Given the description of an element on the screen output the (x, y) to click on. 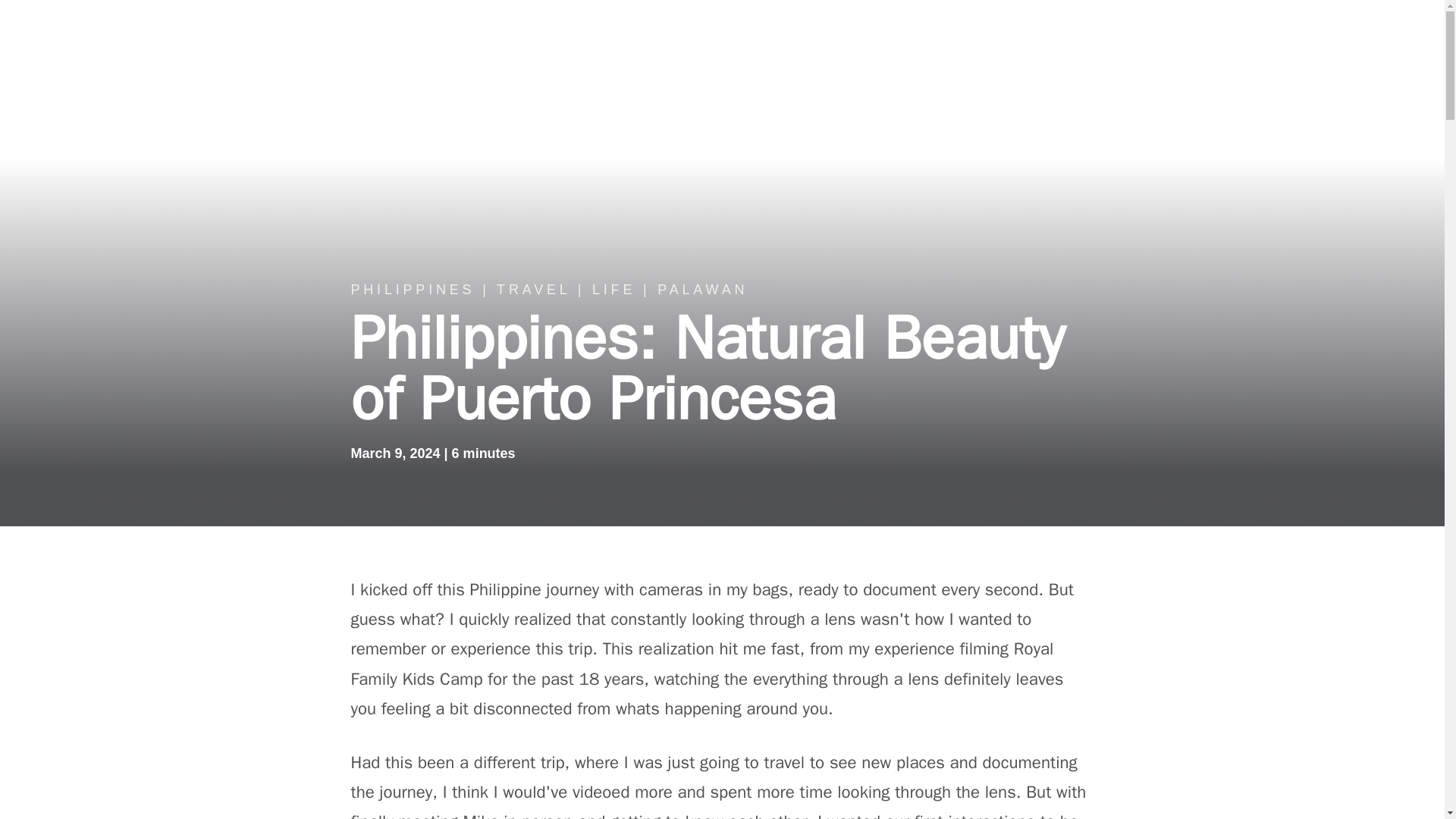
Menu (1420, 31)
Seth Burnett (87, 30)
